Given the description of an element on the screen output the (x, y) to click on. 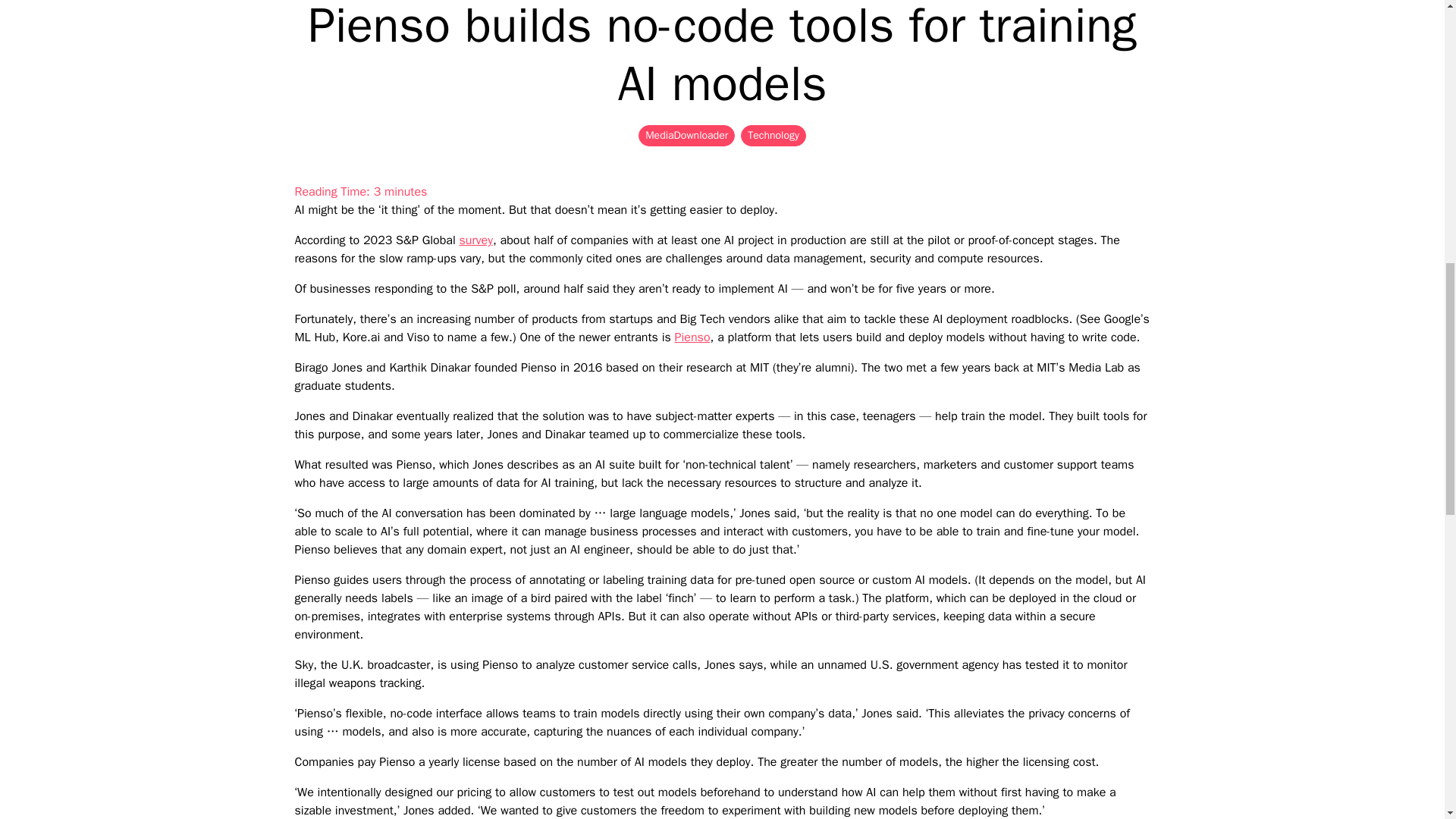
MediaDownloader (687, 135)
survey (476, 240)
Technology (773, 135)
Pienso (692, 337)
Viso (418, 337)
Kore.ai (361, 337)
ML Hub (314, 337)
